Given the description of an element on the screen output the (x, y) to click on. 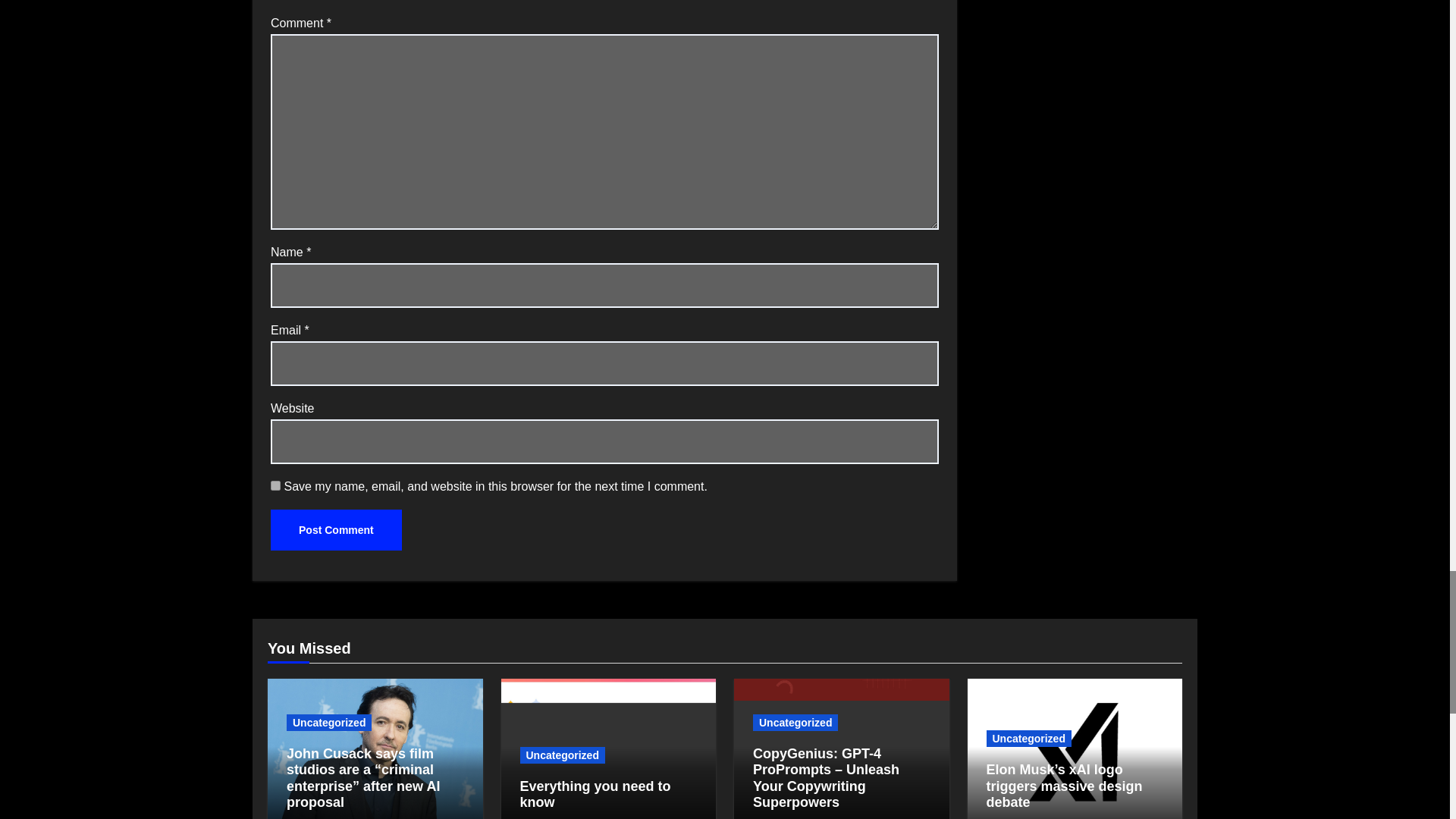
yes (275, 485)
Post Comment (335, 529)
Permalink to: Everything you need to know (595, 794)
